Given the description of an element on the screen output the (x, y) to click on. 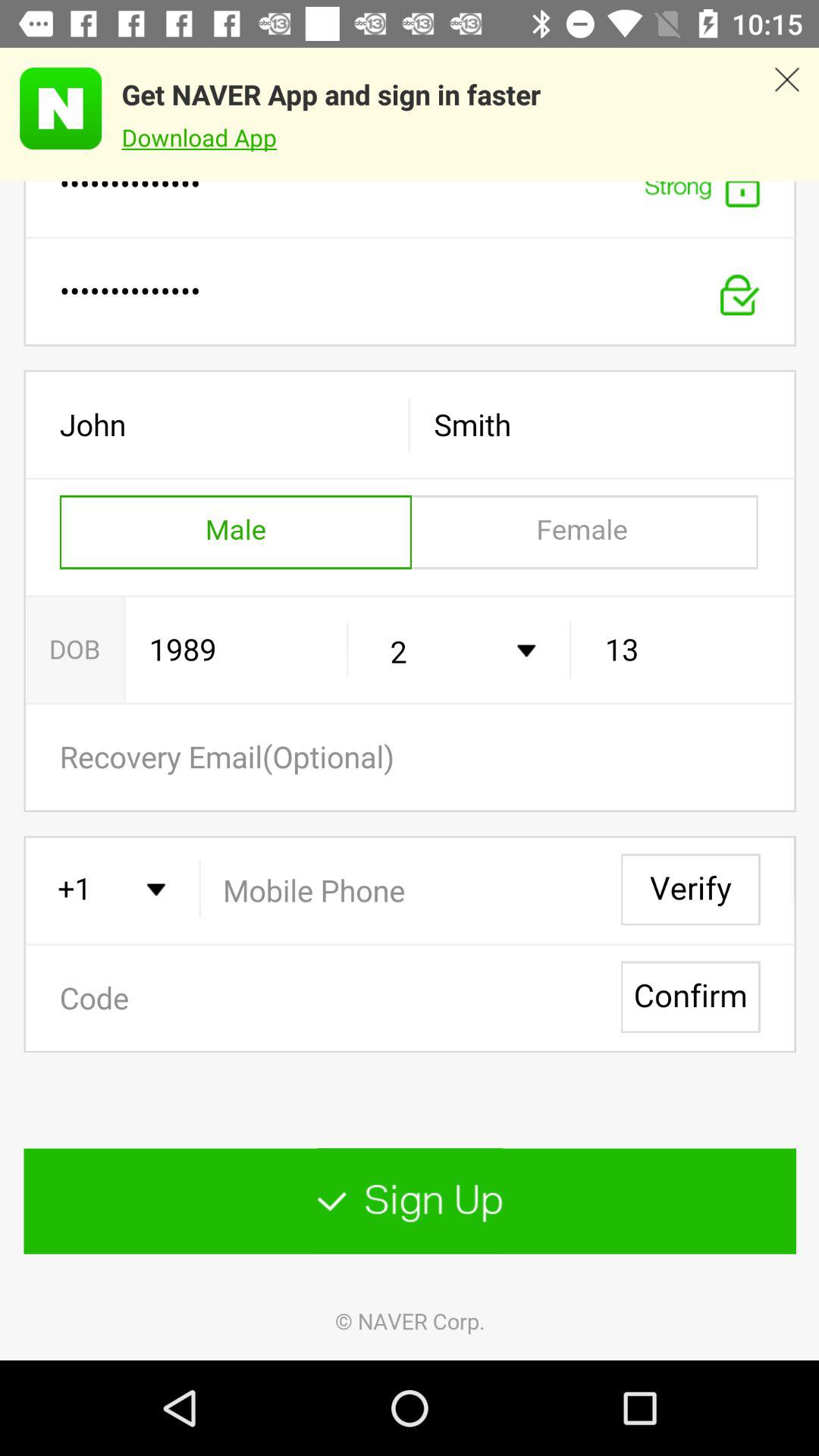
click on advertisements (50, 108)
